Given the description of an element on the screen output the (x, y) to click on. 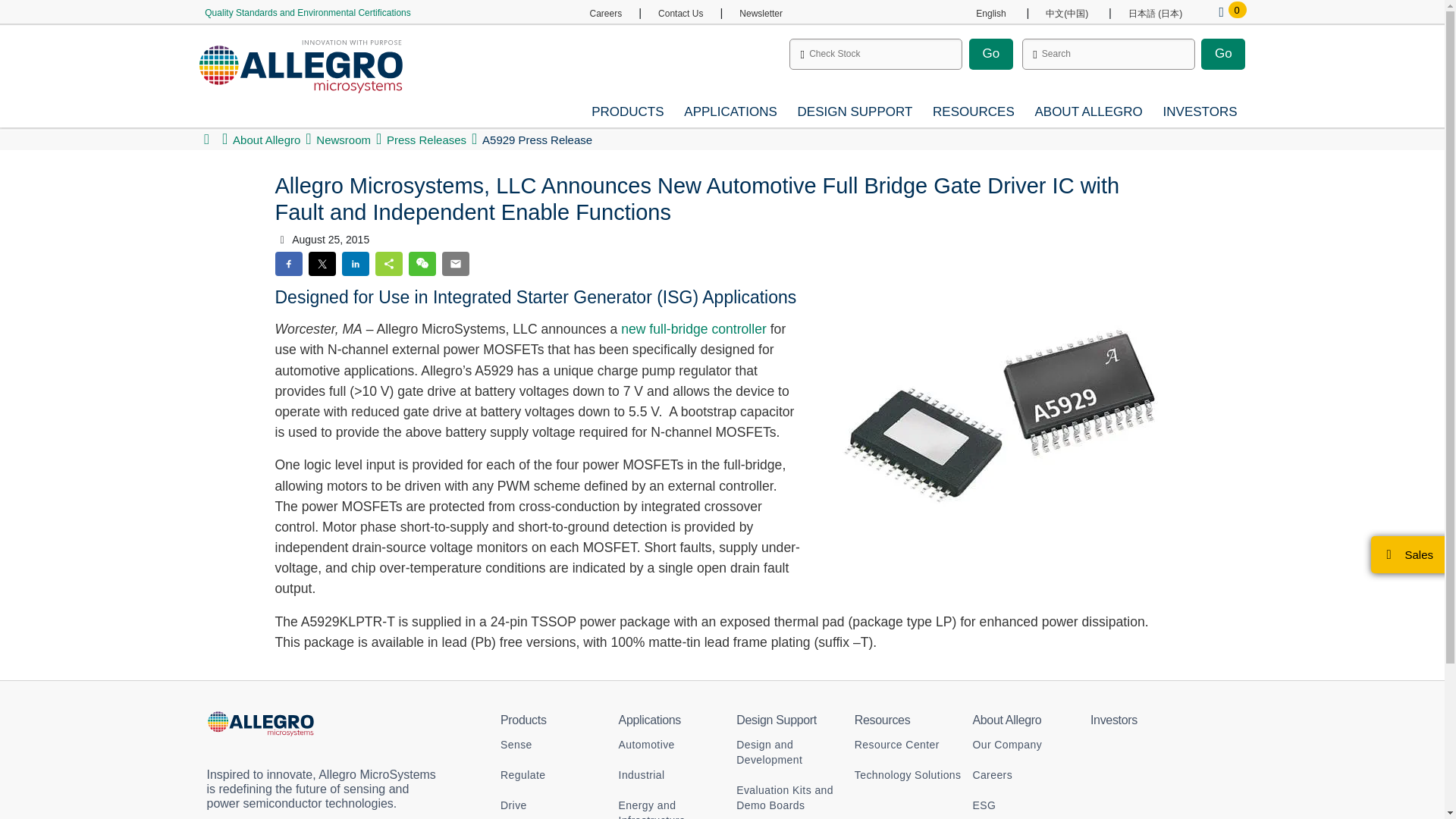
Newsletter (761, 13)
English (990, 13)
Go (991, 53)
RESOURCES (973, 112)
DESIGN SUPPORT (855, 112)
Contact Us (680, 13)
Careers (605, 13)
Quality Standards and Environmental Certifications (306, 12)
INVESTORS (1200, 112)
home (206, 139)
